Given the description of an element on the screen output the (x, y) to click on. 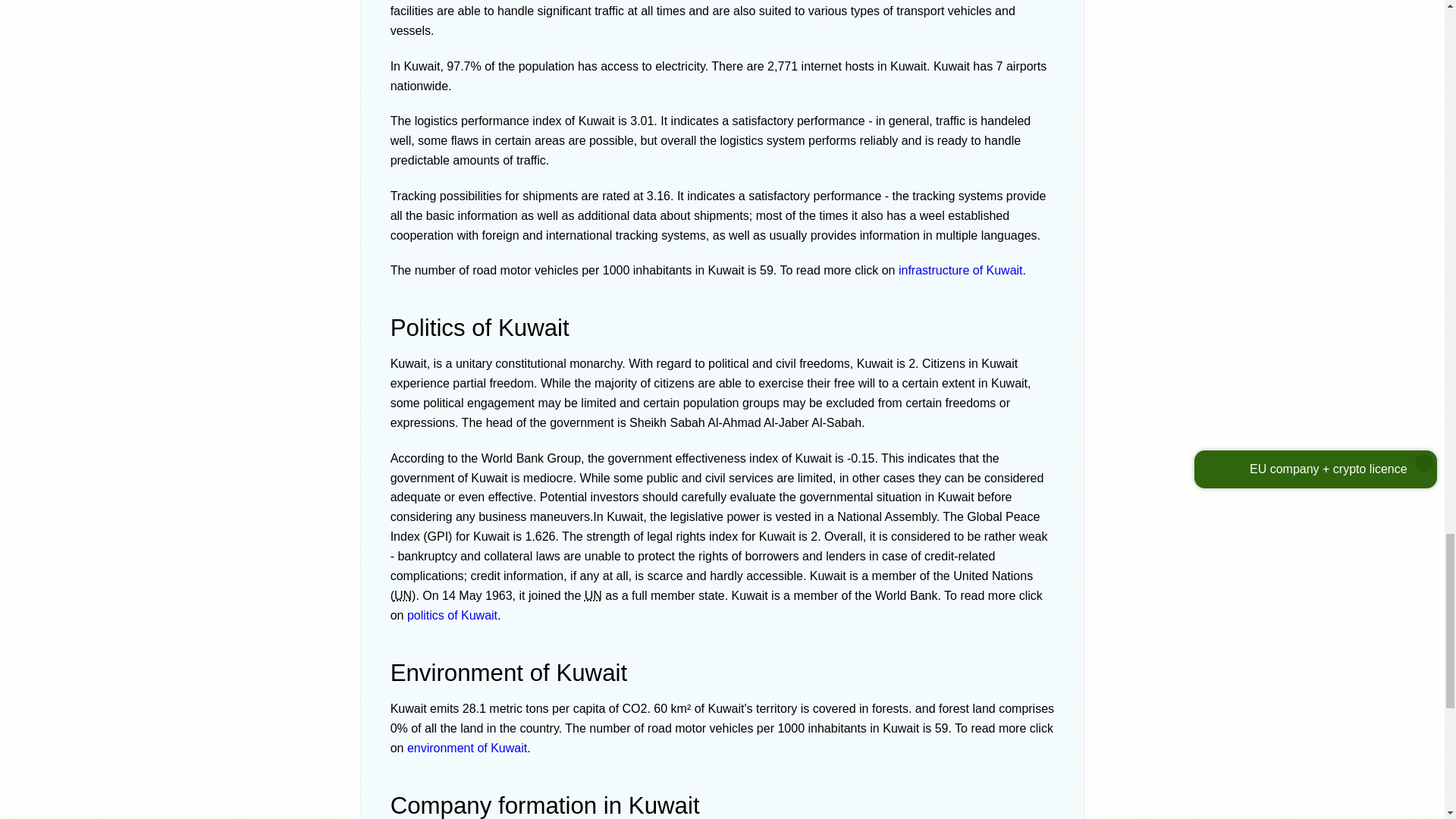
environment of Kuwait (467, 748)
politics of Kuwait (452, 615)
infrastructure of Kuwait (960, 269)
